Given the description of an element on the screen output the (x, y) to click on. 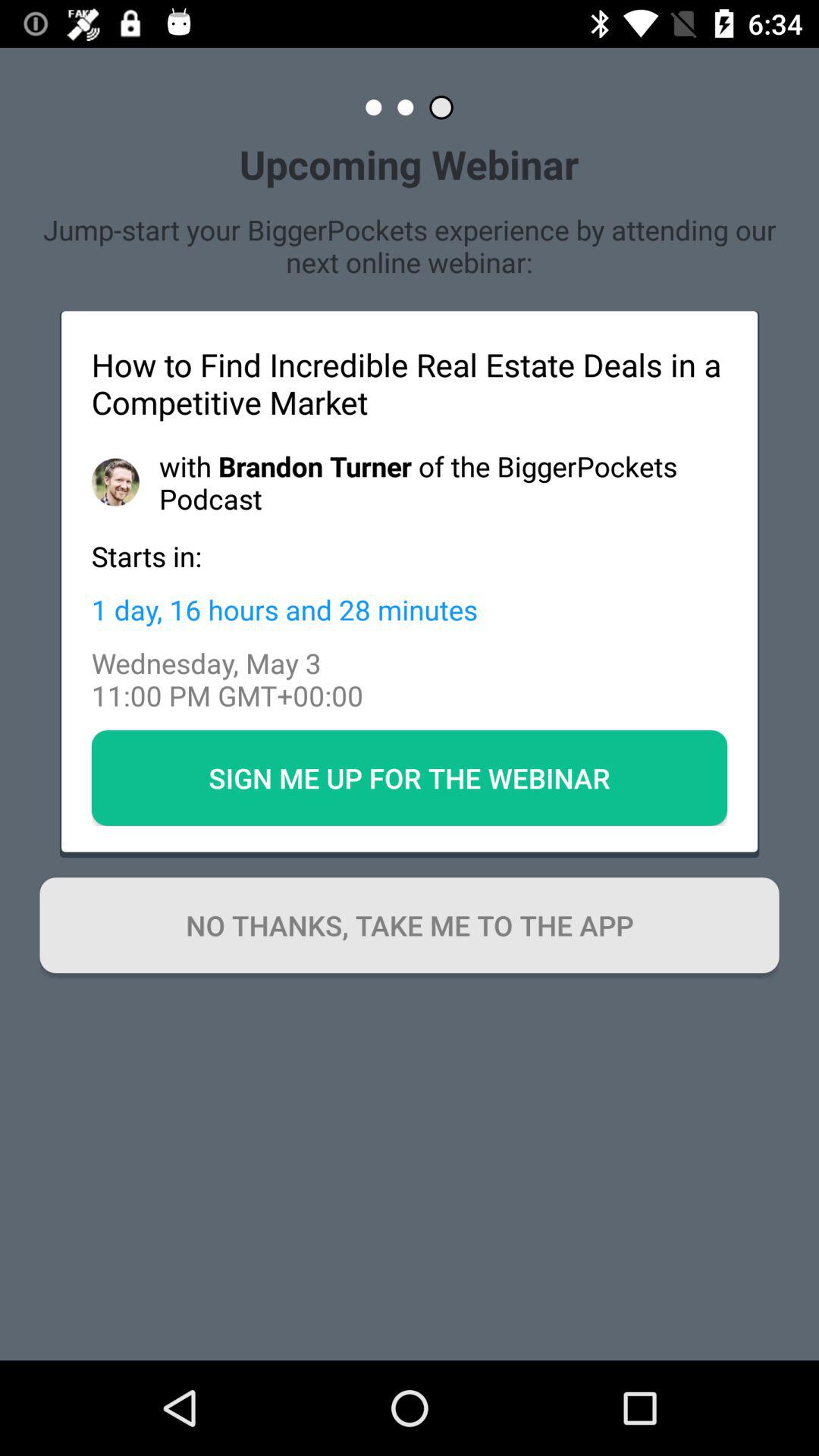
launch the sign me up button (409, 777)
